Given the description of an element on the screen output the (x, y) to click on. 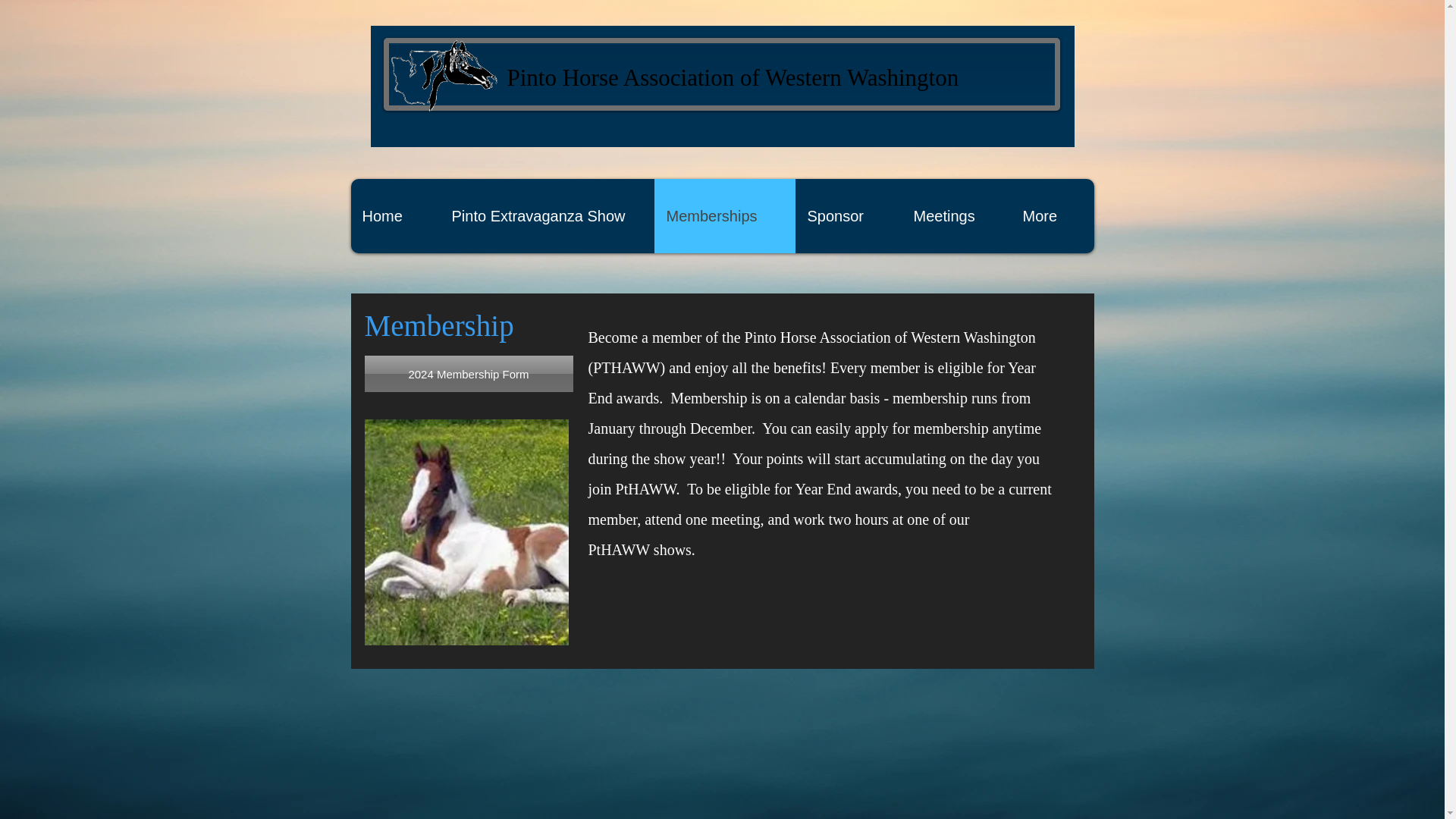
2024 Membership Form (468, 373)
Home (394, 216)
Meetings (955, 216)
Memberships (723, 216)
Sponsor (847, 216)
Pinto Extravaganza Show (546, 216)
